Given the description of an element on the screen output the (x, y) to click on. 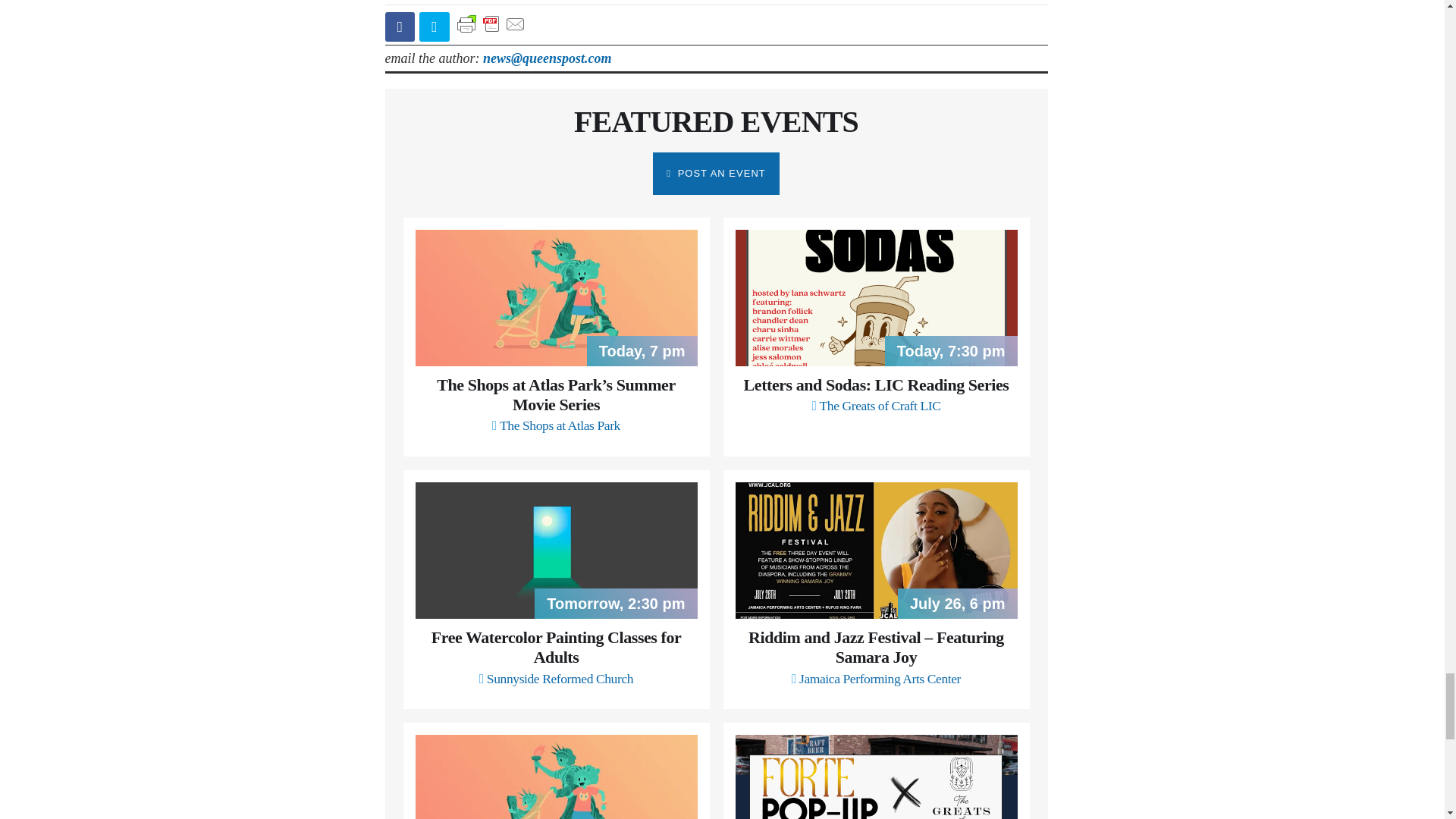
FEATURED EVENTS (716, 121)
POST AN EVENT (715, 173)
